Given the description of an element on the screen output the (x, y) to click on. 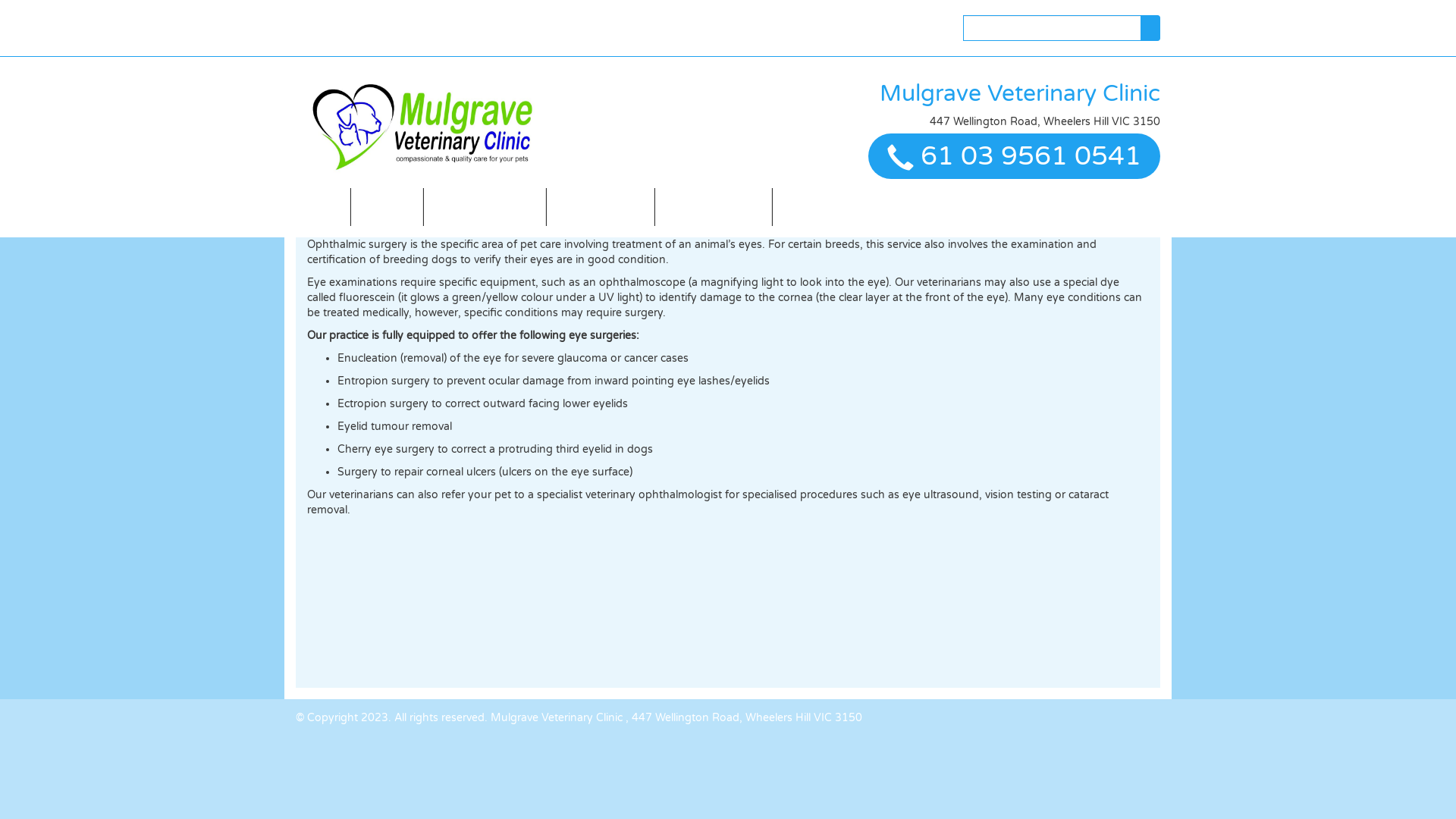
Surgical Services Element type: text (600, 206)
Pet Care Services Element type: text (826, 206)
Wellbeing Services Element type: text (712, 206)
Home Element type: text (322, 206)
Healthcare Services Element type: text (484, 206)
About Us Element type: text (386, 206)
61 03 9561 0541 Element type: text (1030, 156)
